Given the description of an element on the screen output the (x, y) to click on. 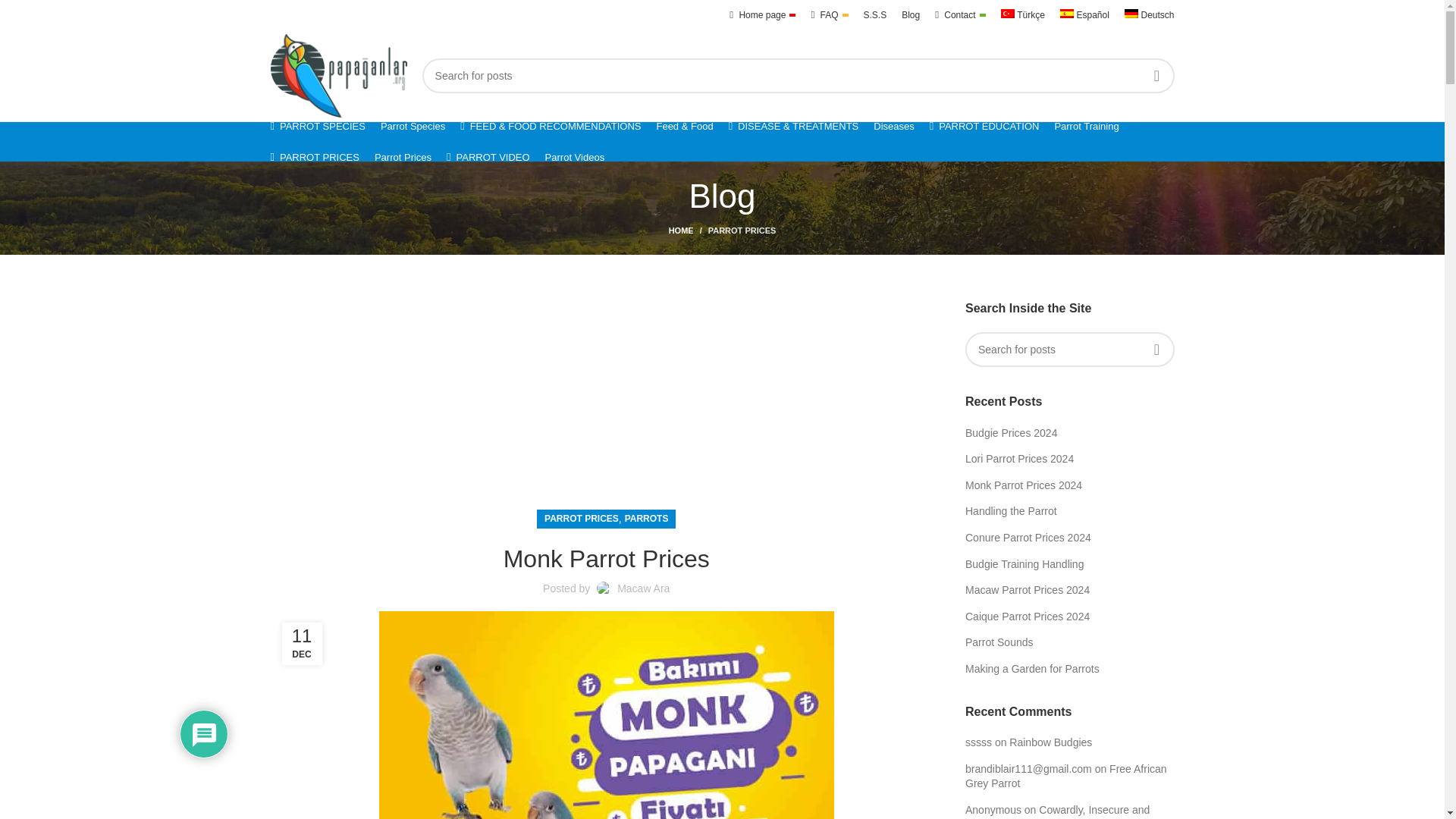
PARROT EDUCATION (984, 125)
Search for posts (798, 75)
Parrot Videos (574, 157)
FAQ (828, 15)
Diseases (893, 125)
PARROT PRICES (313, 157)
PARROT VIDEO (487, 157)
Parrot Species (412, 125)
PARROT SPECIES (317, 125)
PARROT PRICES (581, 518)
Deutsch (1149, 15)
PARROT PRICES (741, 230)
Deutsch (1149, 15)
Blog (910, 15)
